Given the description of an element on the screen output the (x, y) to click on. 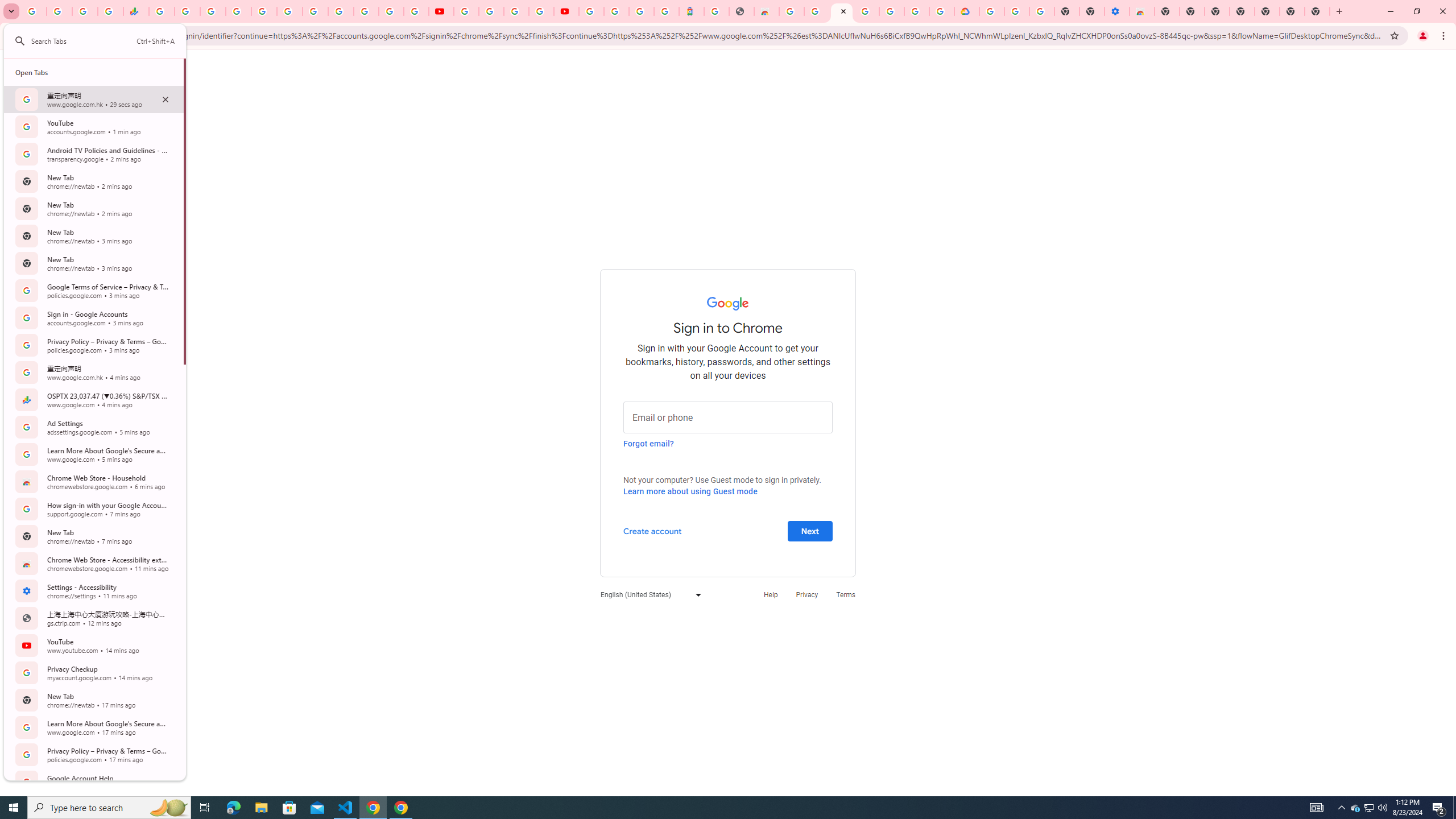
Forgot email? (648, 443)
Notification Chevron (1341, 807)
Settings - Accessibility settings 11 mins ago Open Tab (93, 590)
User Promoted Notification Area (1368, 807)
New Tab newtab 2 mins ago Open Tab (93, 208)
Microsoft Store (289, 807)
